Given the description of an element on the screen output the (x, y) to click on. 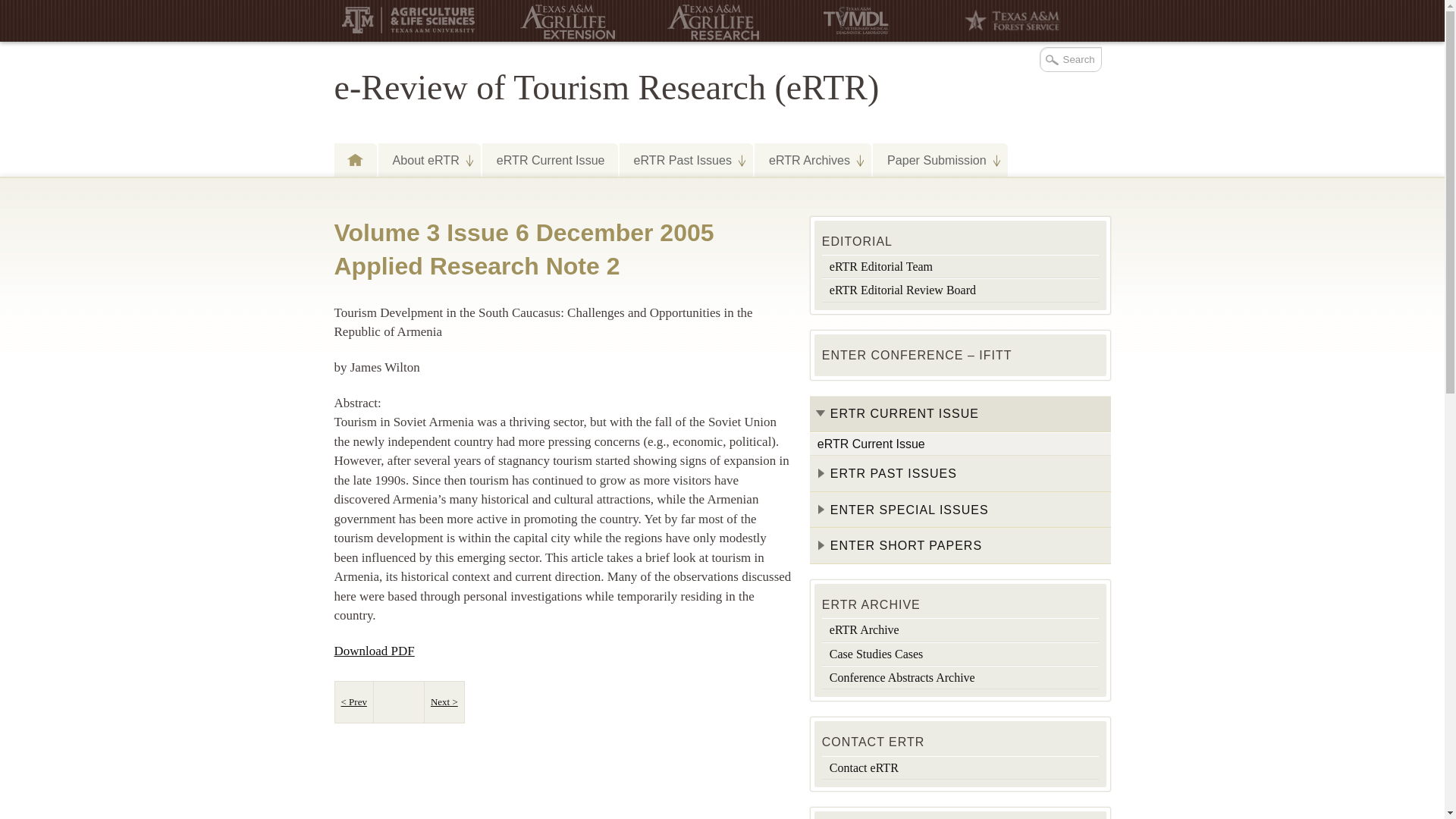
eRTR Current Issue (549, 159)
Home (354, 159)
Search (1069, 59)
eRTR Editorial Team (960, 266)
Volume 3 Issue 6 December 2005 Applied Research Note 1 (353, 701)
Volume 3 Issue 6 December 2005 Applied Research Note 3 (444, 701)
home (354, 159)
Go (13, 7)
Download PDF (373, 650)
